Given the description of an element on the screen output the (x, y) to click on. 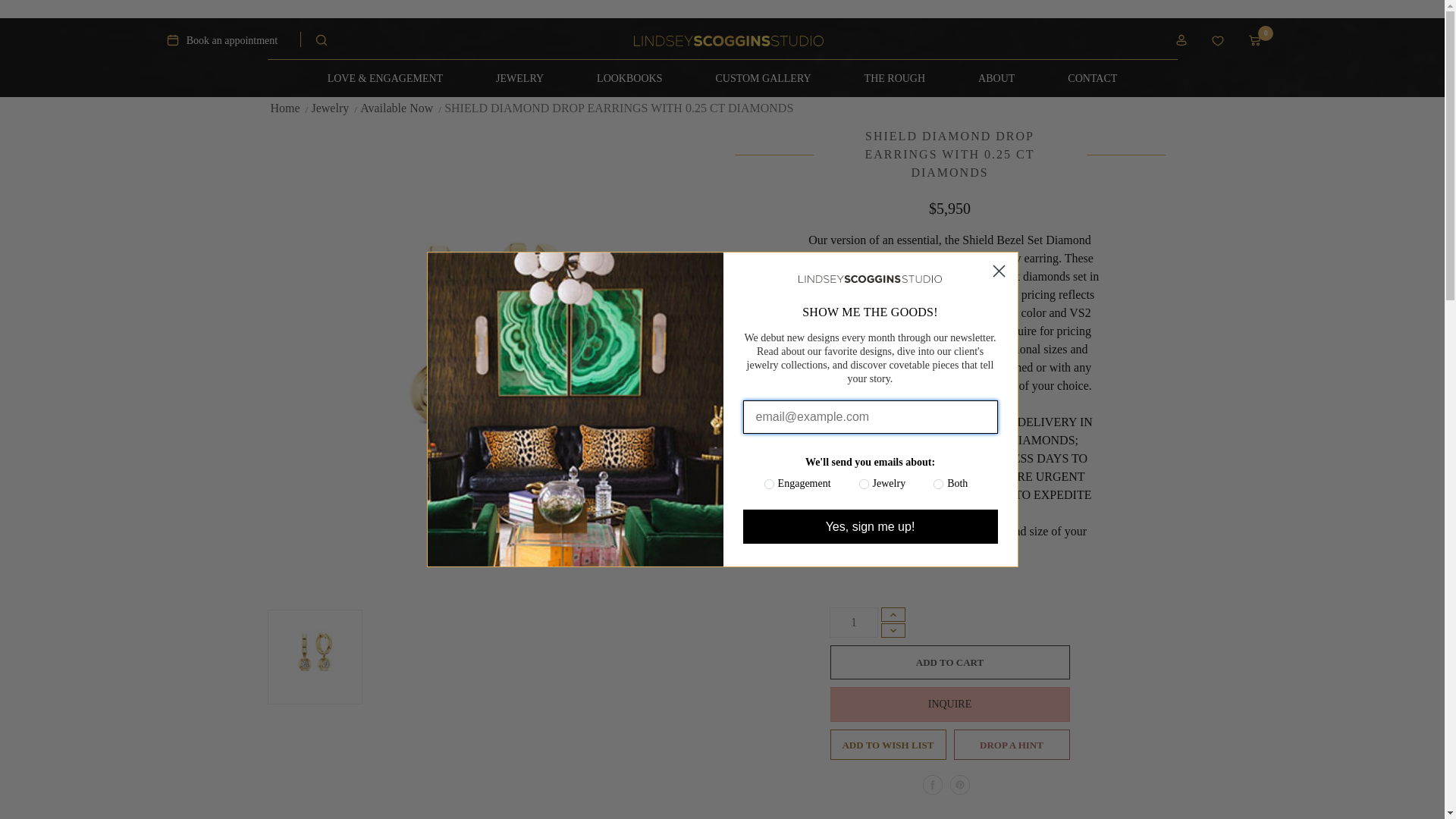
1 (853, 622)
0 (1263, 42)
JEWELRY (519, 78)
Add to Cart (948, 662)
on (759, 487)
on (928, 487)
on (853, 487)
social-pinterest (959, 784)
Book an appointment (232, 42)
Untitled-1 (931, 784)
